Given the description of an element on the screen output the (x, y) to click on. 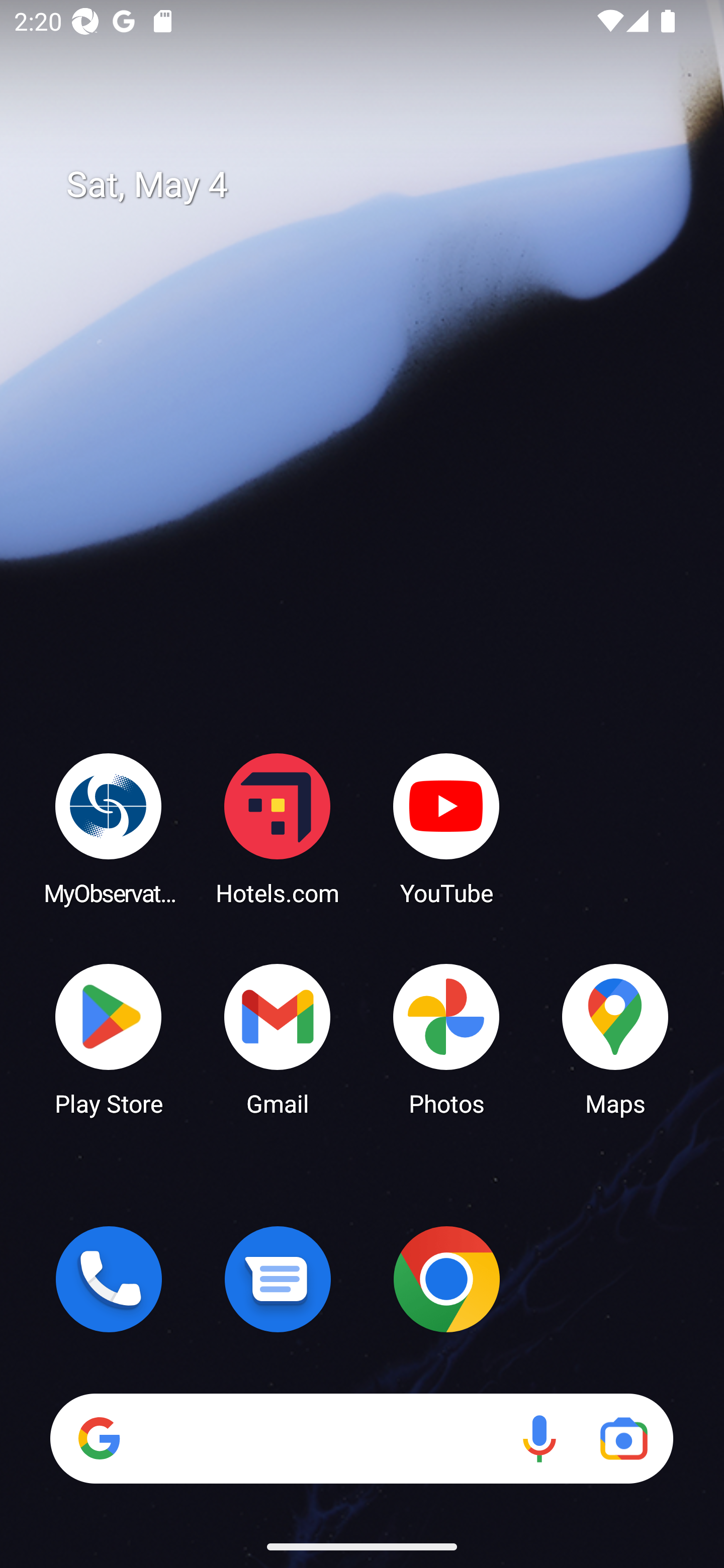
Sat, May 4 (375, 184)
MyObservatory (108, 828)
Hotels.com (277, 828)
YouTube (445, 828)
Play Store (108, 1038)
Gmail (277, 1038)
Photos (445, 1038)
Maps (615, 1038)
Phone (108, 1279)
Messages (277, 1279)
Chrome (446, 1279)
Search Voice search Google Lens (361, 1438)
Voice search (539, 1438)
Google Lens (623, 1438)
